Given the description of an element on the screen output the (x, y) to click on. 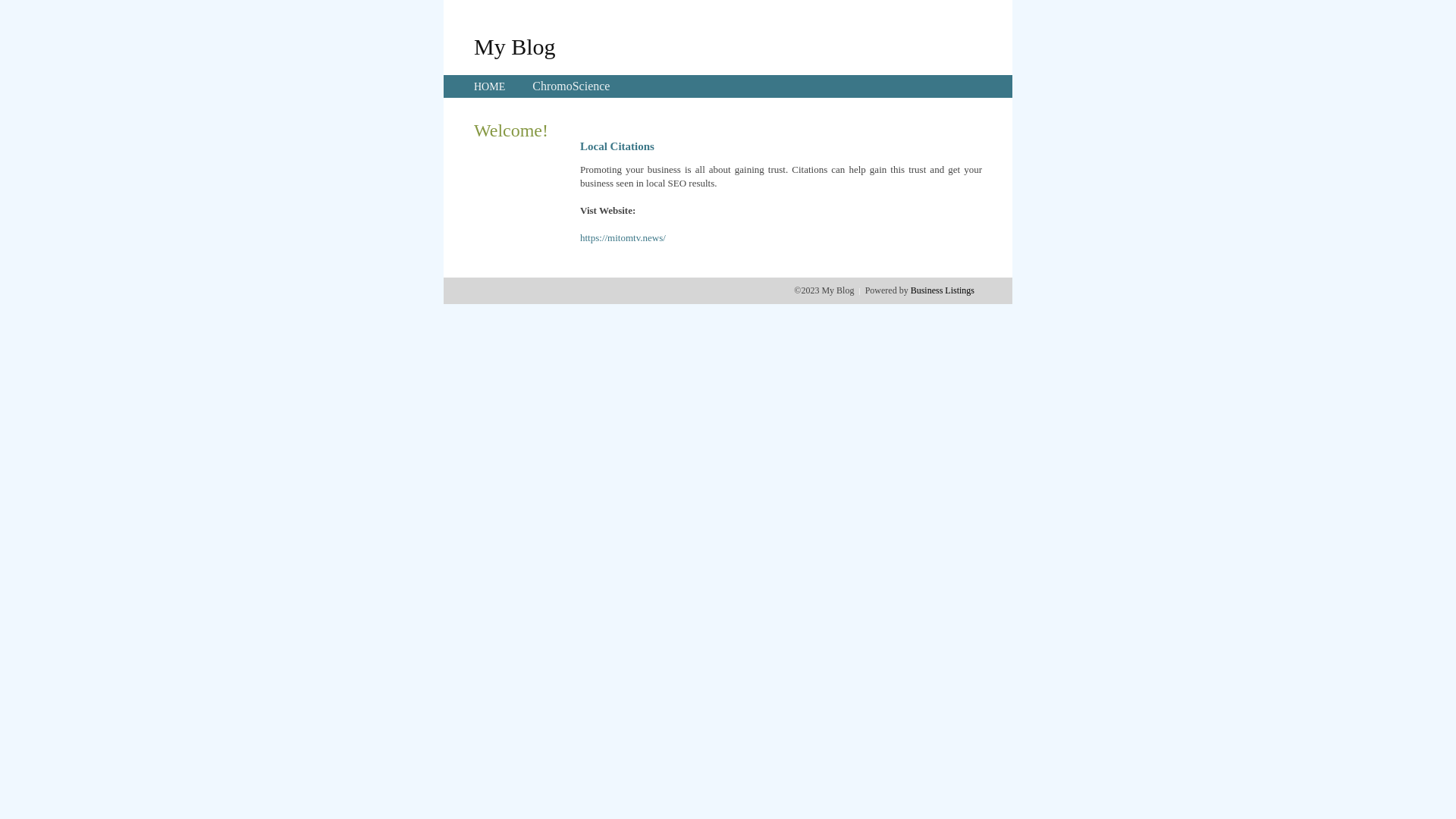
https://mitomtv.news/ Element type: text (622, 237)
My Blog Element type: text (514, 46)
Business Listings Element type: text (942, 290)
ChromoScience Element type: text (570, 85)
HOME Element type: text (489, 86)
